Given the description of an element on the screen output the (x, y) to click on. 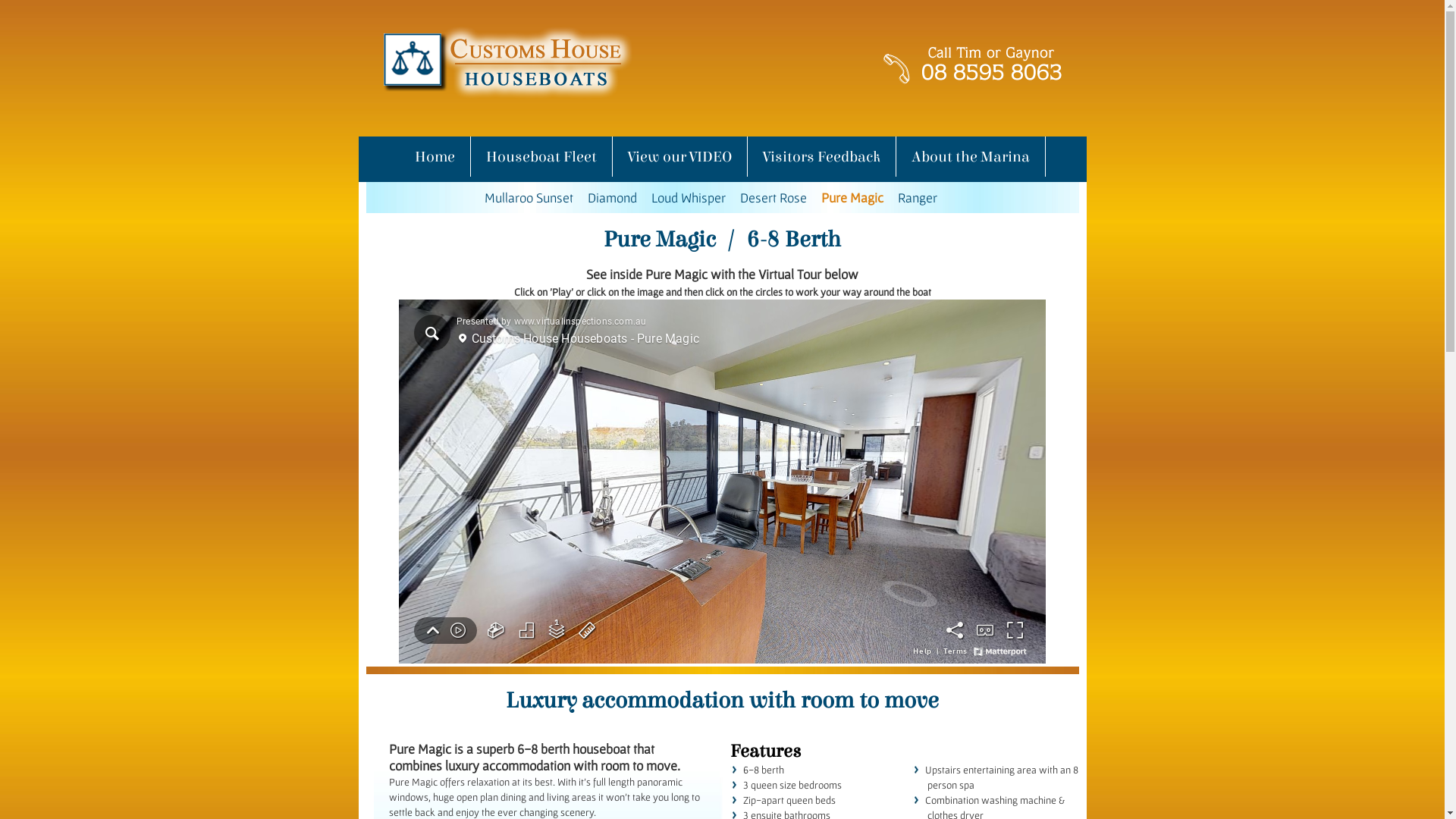
Loud Whisper Element type: text (688, 197)
Diamond Element type: text (612, 197)
Desert Rose Element type: text (773, 197)
Visitors Feedback Element type: text (821, 156)
Houseboat Fleet Element type: text (540, 156)
View our VIDEO Element type: text (679, 156)
Ranger Element type: text (917, 197)
Pure Magic Element type: text (852, 197)
About the Marina Element type: text (970, 156)
Mullaroo Sunset Element type: text (528, 197)
Home Element type: text (433, 156)
